Given the description of an element on the screen output the (x, y) to click on. 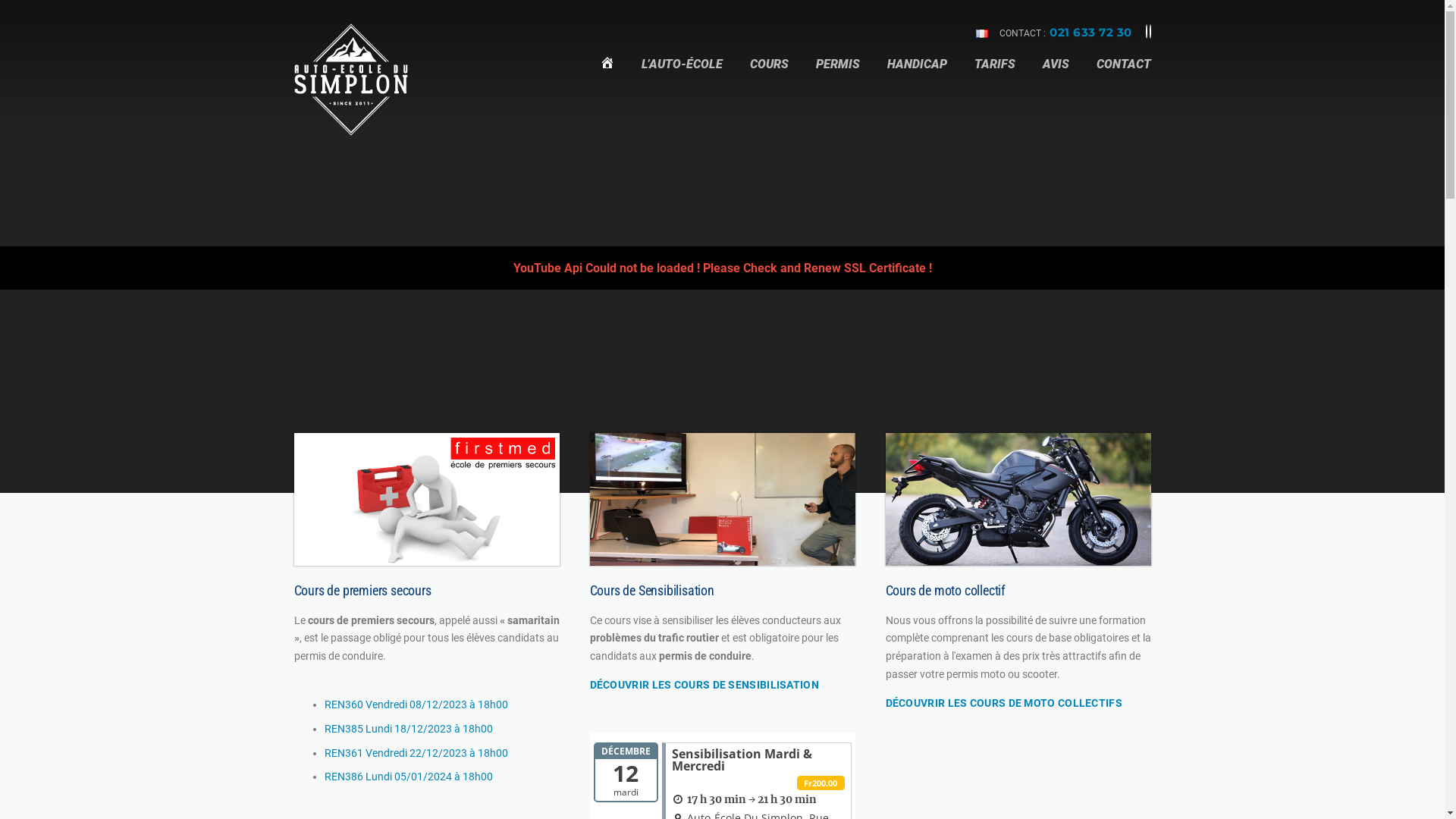
HANDICAP Element type: text (916, 74)
PERMIS Element type: text (837, 74)
Cours de Moto Collectif Element type: hover (1018, 499)
COURS Element type: text (768, 74)
ACCUEIL Element type: text (606, 74)
TARIFS Element type: text (994, 74)
Cours de Sensibilisation Element type: hover (722, 499)
Auto-Ecole du Simplon Element type: hover (350, 78)
AVIS Element type: text (1055, 74)
021 633 72 30 Element type: text (1090, 32)
CONTACT Element type: text (1116, 74)
Email Element type: hover (1150, 31)
Facebook Element type: hover (1145, 31)
